Given the description of an element on the screen output the (x, y) to click on. 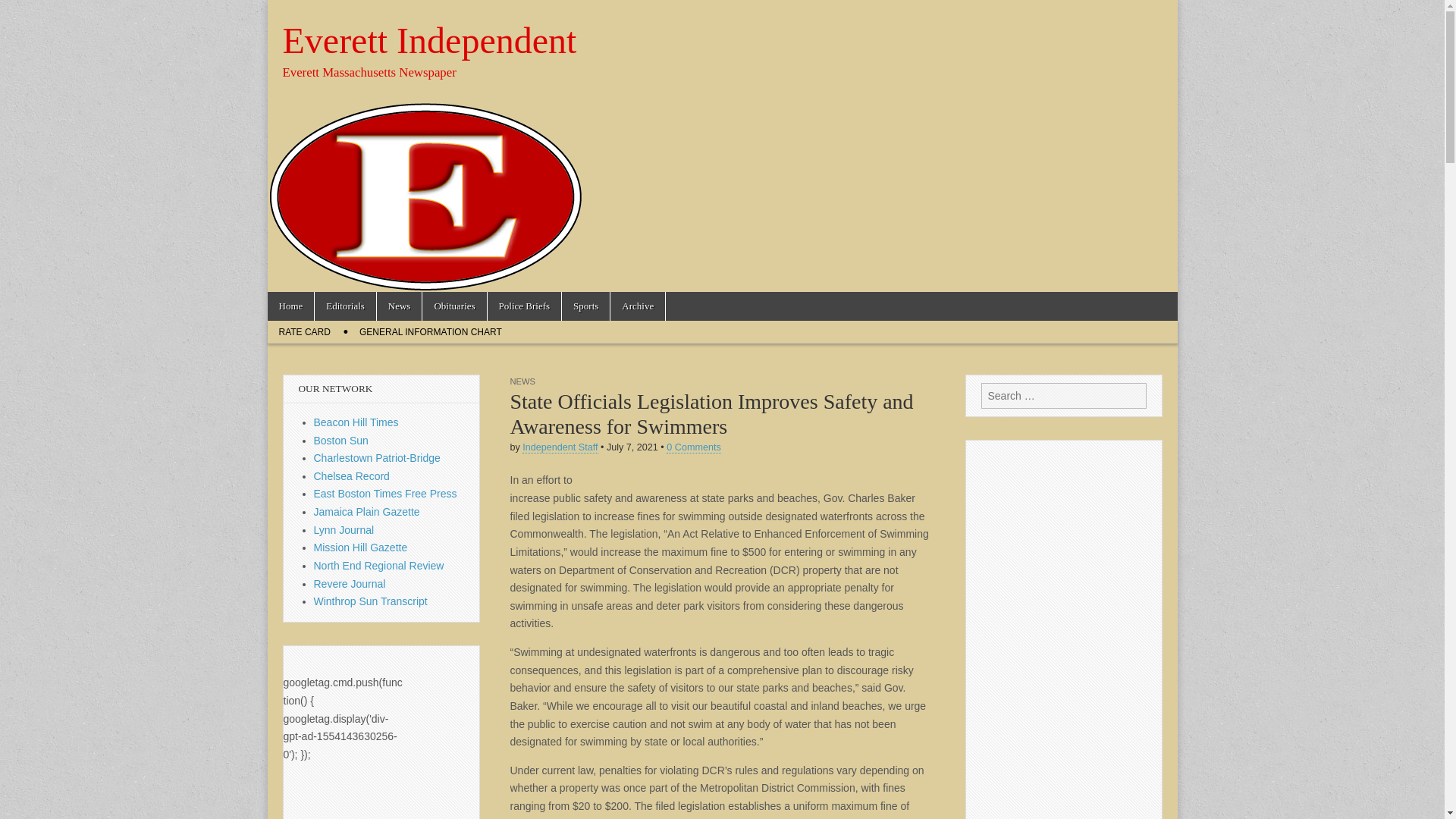
Independent Staff (559, 447)
Archive (637, 306)
News (399, 306)
NEWS (522, 380)
Charlestown Patriot-Bridge (377, 458)
Home (290, 306)
Everett Independent (429, 40)
East Boston Times Free Press (385, 493)
Winthrop Sun Transcript (371, 601)
Mission Hill Gazette (360, 547)
